Given the description of an element on the screen output the (x, y) to click on. 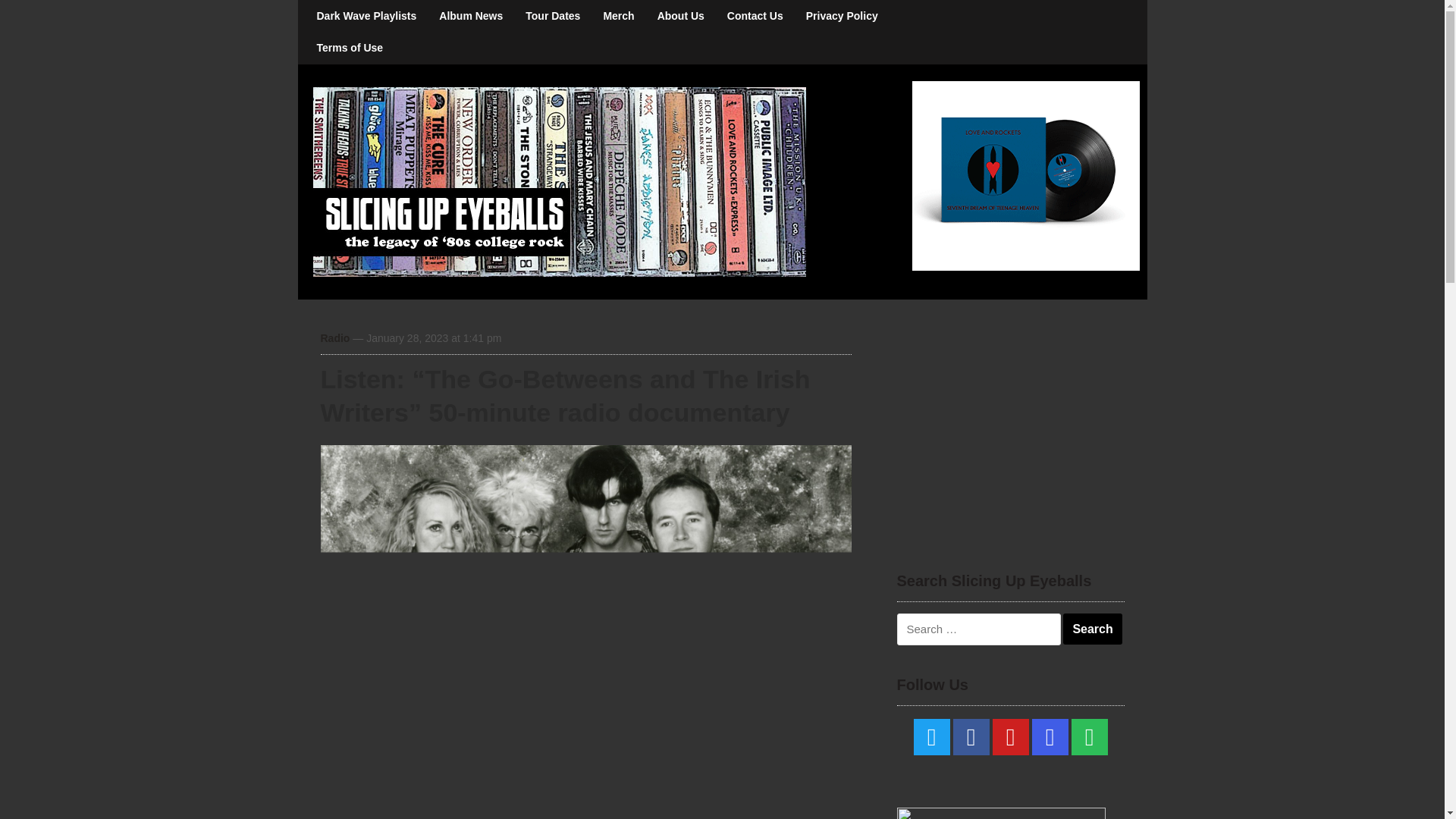
'80s College Rock, Alternative Music, Indie (559, 180)
facebook (970, 737)
youtube (1009, 737)
Tour Dates (552, 15)
Album News (470, 15)
Terms of Use (349, 47)
Privacy Policy (841, 15)
Contact Us (755, 15)
About Us (681, 15)
Search for: (977, 629)
